Given the description of an element on the screen output the (x, y) to click on. 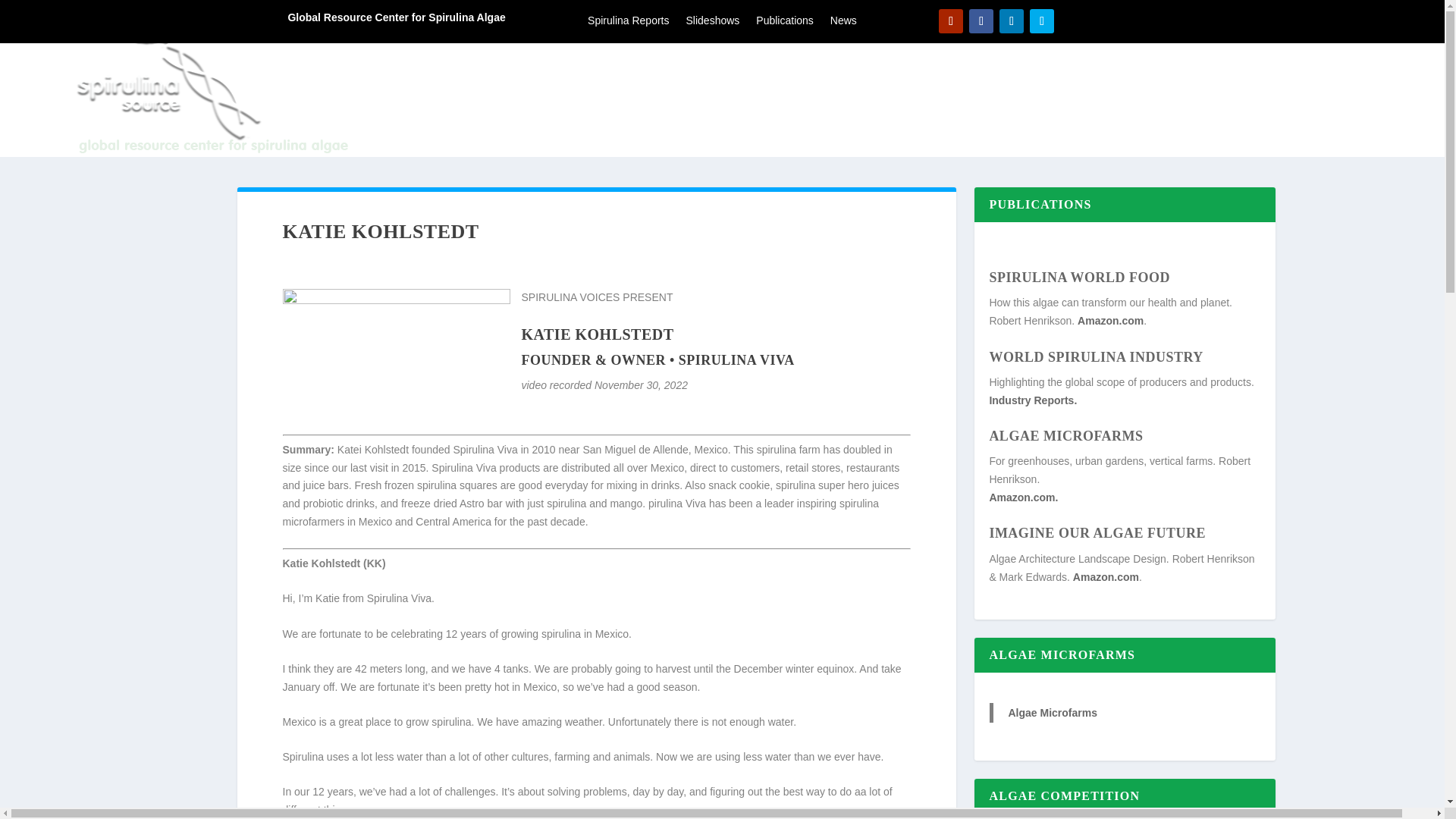
Follow on Youtube (950, 21)
News (843, 23)
Publications (784, 23)
Follow on Facebook (980, 21)
SPIRULINA WORLD FOOD (1079, 277)
Slideshows (712, 23)
MICROFARMS (1226, 100)
Spirulina Reports (628, 23)
Follow on Twitter (1041, 21)
Follow on LinkedIn (1010, 21)
Amazon.com (1109, 320)
